Given the description of an element on the screen output the (x, y) to click on. 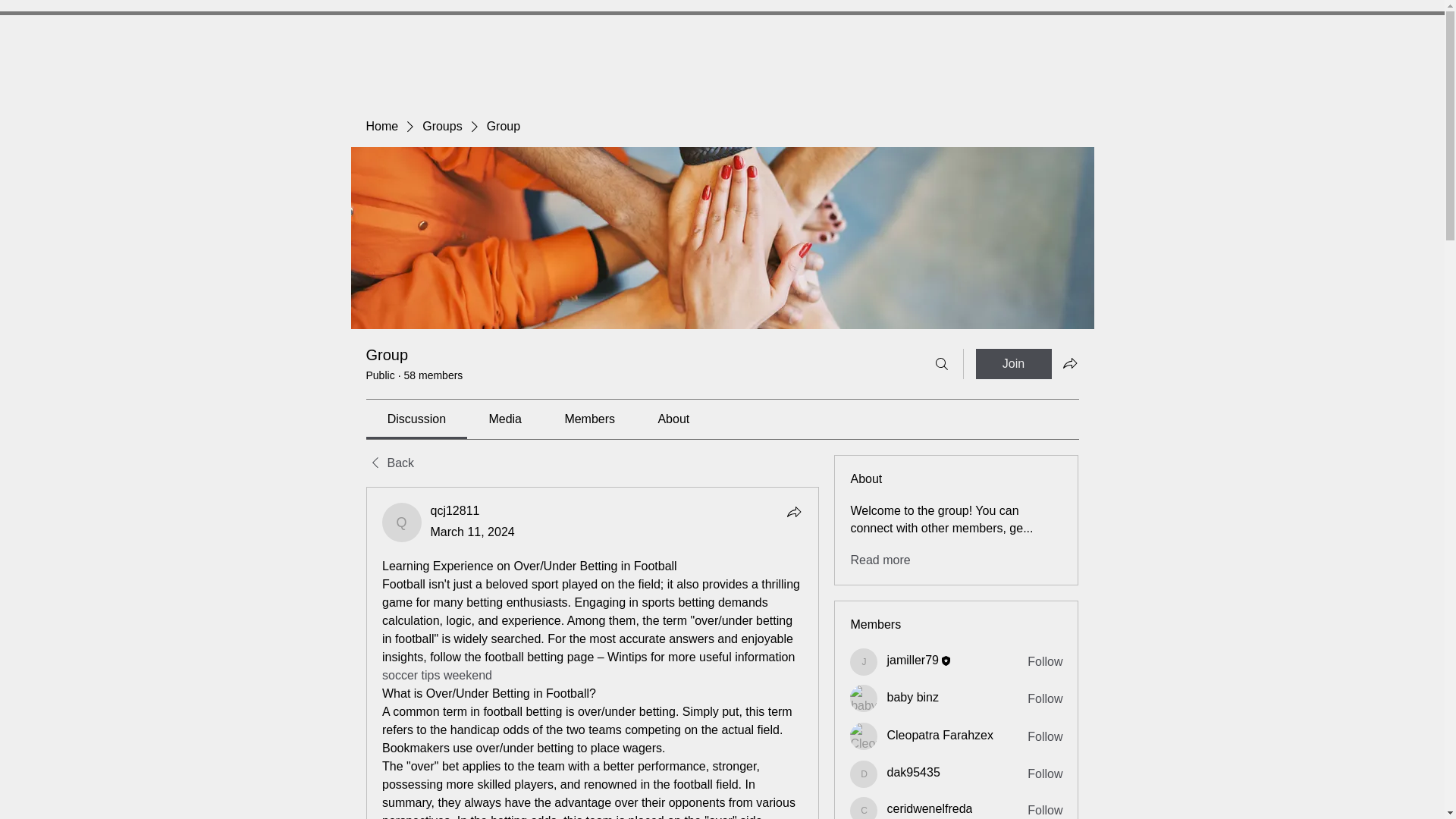
March 11, 2024 (472, 531)
qcj12811 (455, 510)
Follow (1044, 810)
Groups (441, 126)
Home (381, 126)
Follow (1044, 736)
qcj12811 (455, 510)
Follow (1044, 661)
qcj12811 (401, 522)
ceridwenelfreda (929, 808)
